Given the description of an element on the screen output the (x, y) to click on. 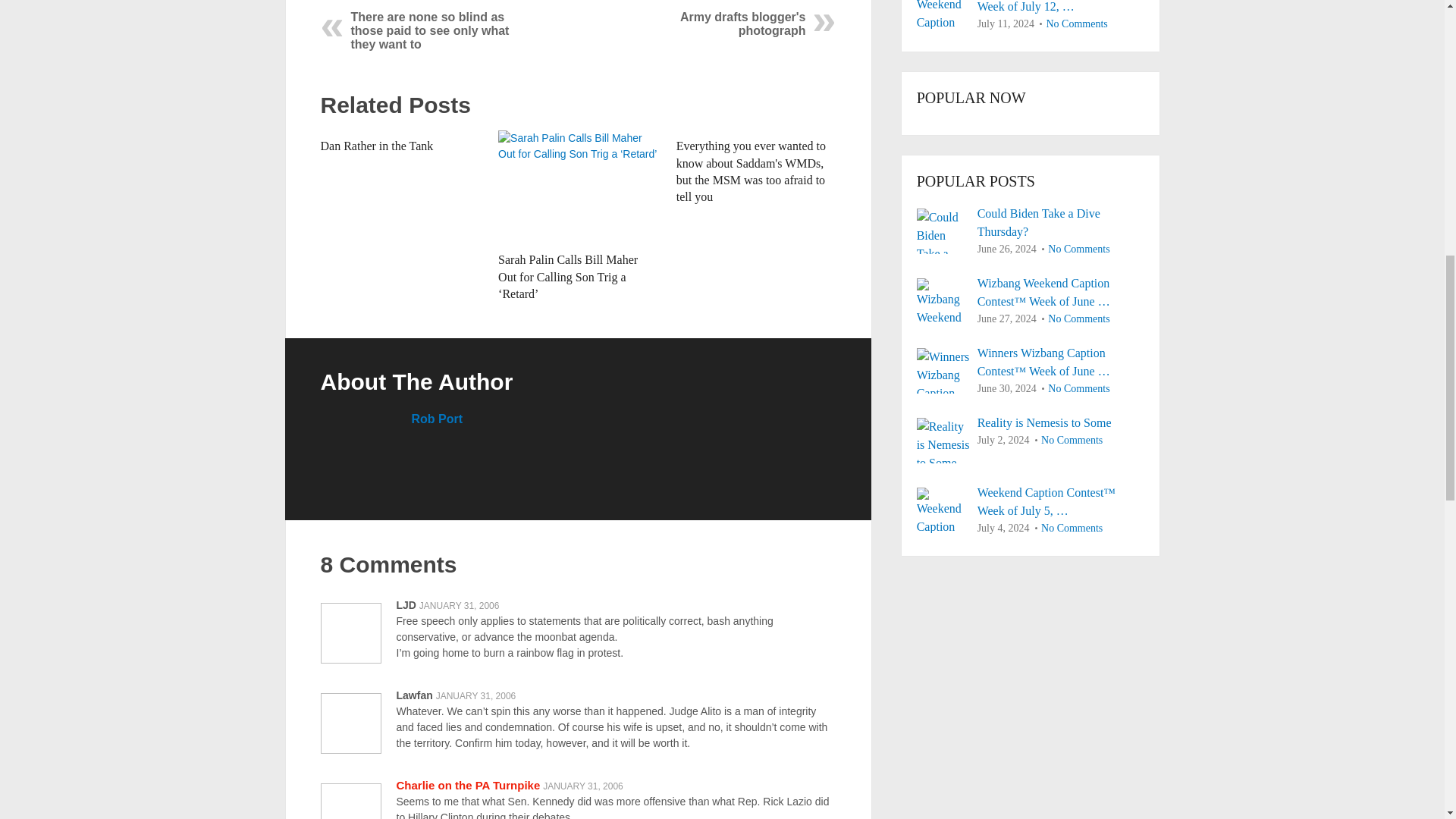
Dan Rather in the Tank (376, 145)
